Given the description of an element on the screen output the (x, y) to click on. 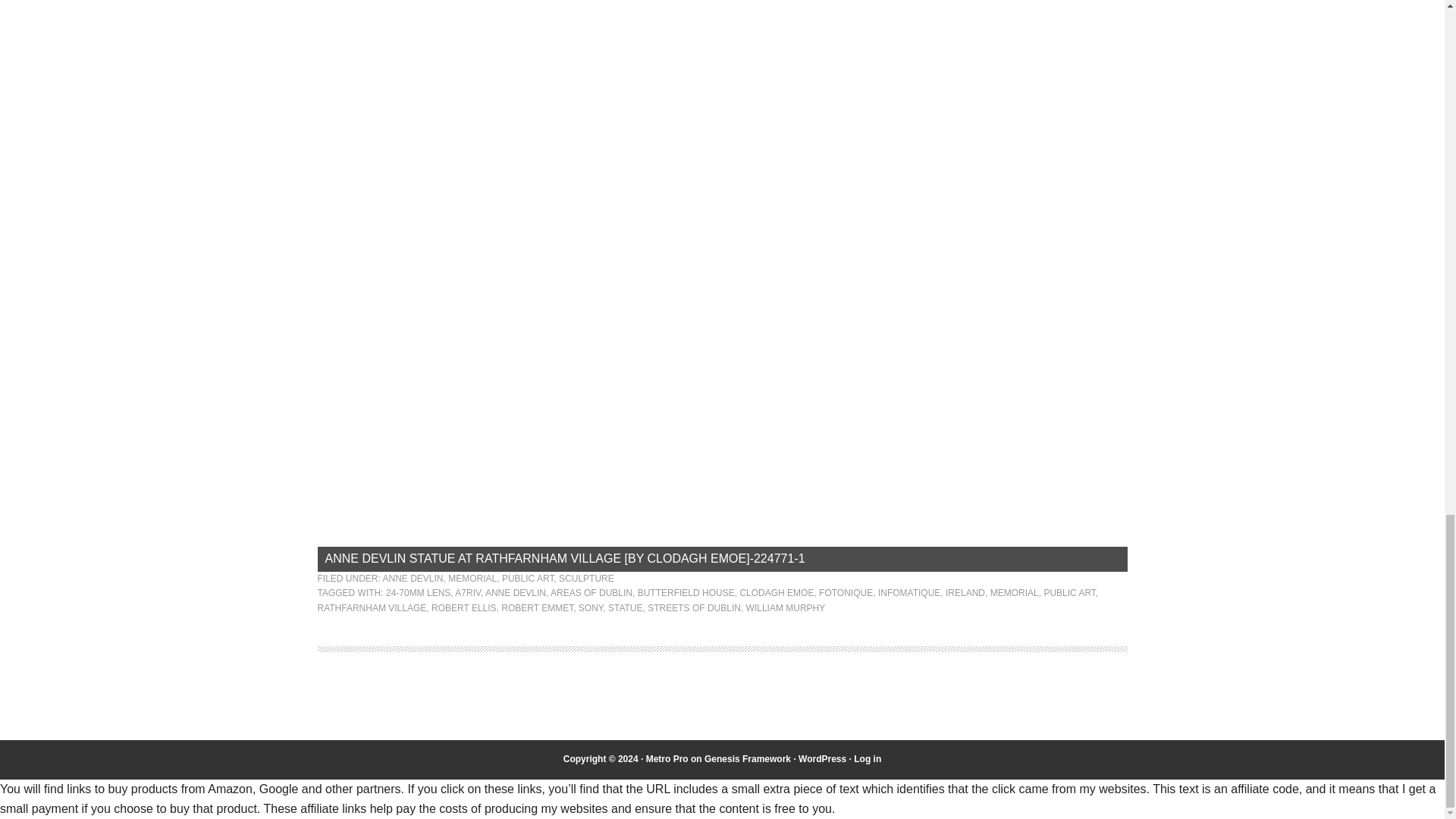
INFOMATIQUE (908, 593)
ANNE DEVLIN (413, 578)
Log in (866, 758)
RATHFARNHAM VILLAGE (371, 607)
MEMORIAL (472, 578)
SCULPTURE (586, 578)
MEMORIAL (1014, 593)
SONY (590, 607)
IRELAND (964, 593)
WordPress (821, 758)
24-70MM LENS (417, 593)
STREETS OF DUBLIN (694, 607)
Next (1107, 162)
STATUE (625, 607)
ROBERT EMMET (536, 607)
